Given the description of an element on the screen output the (x, y) to click on. 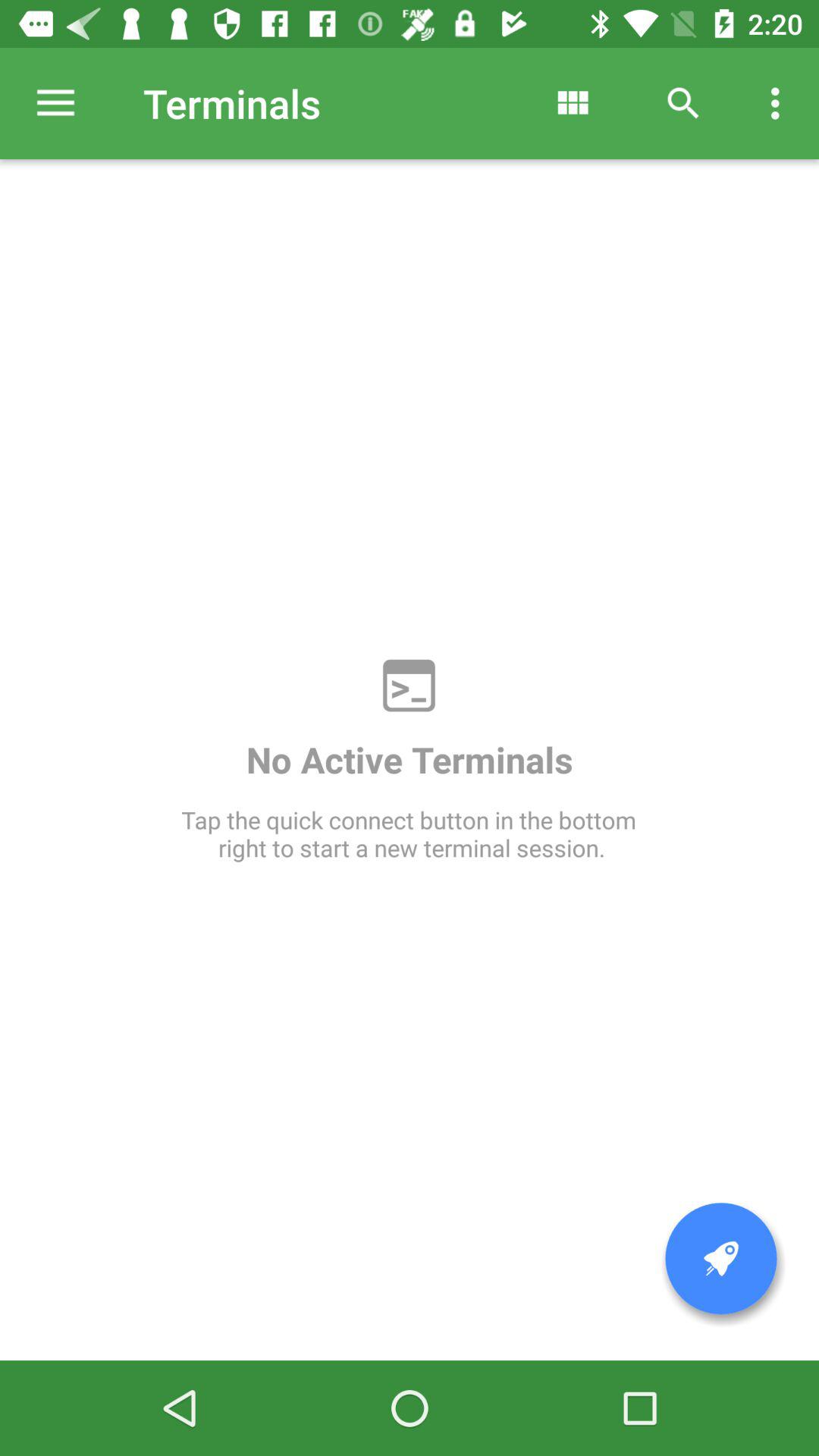
press icon next to the terminals (55, 103)
